Given the description of an element on the screen output the (x, y) to click on. 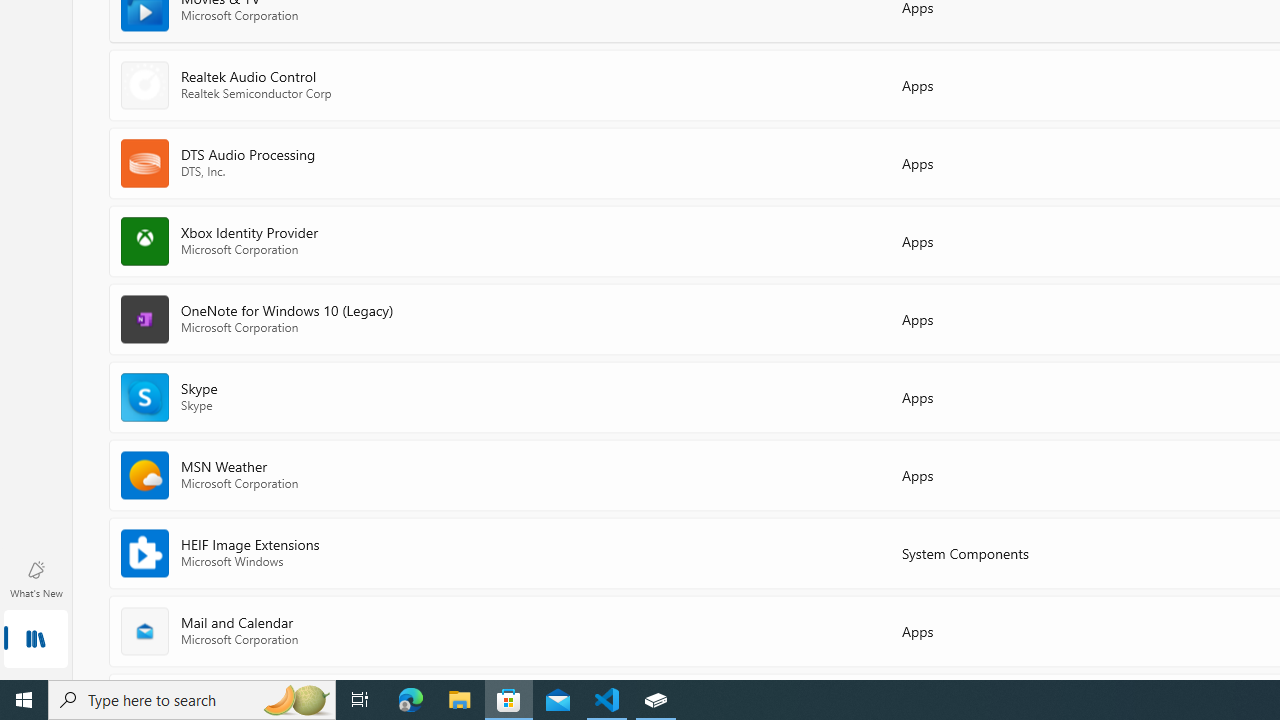
What's New (35, 578)
Library (35, 640)
